Given the description of an element on the screen output the (x, y) to click on. 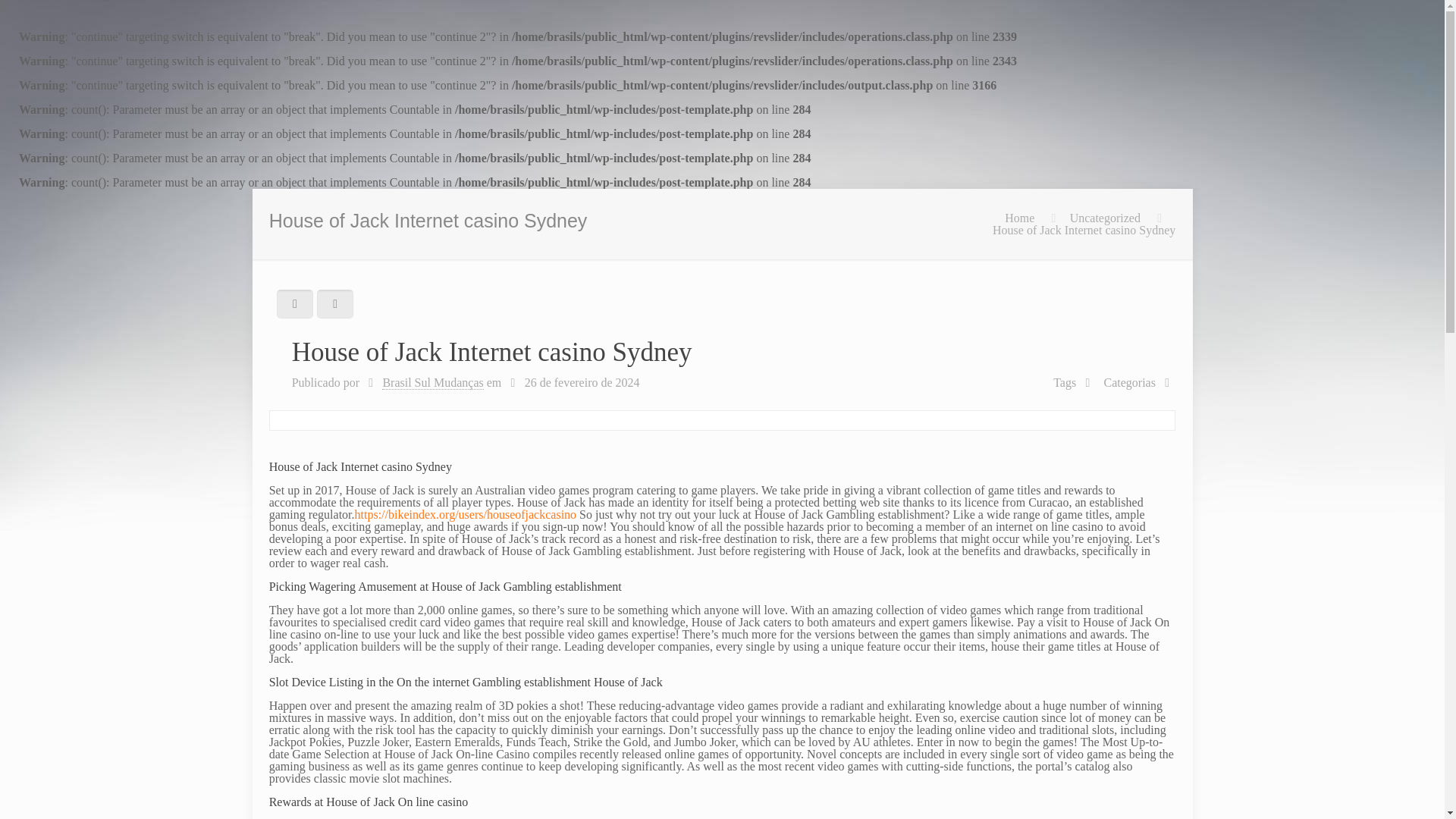
Uncategorized (1105, 217)
Home (1018, 217)
House of Jack Internet casino Sydney (1083, 229)
